Given the description of an element on the screen output the (x, y) to click on. 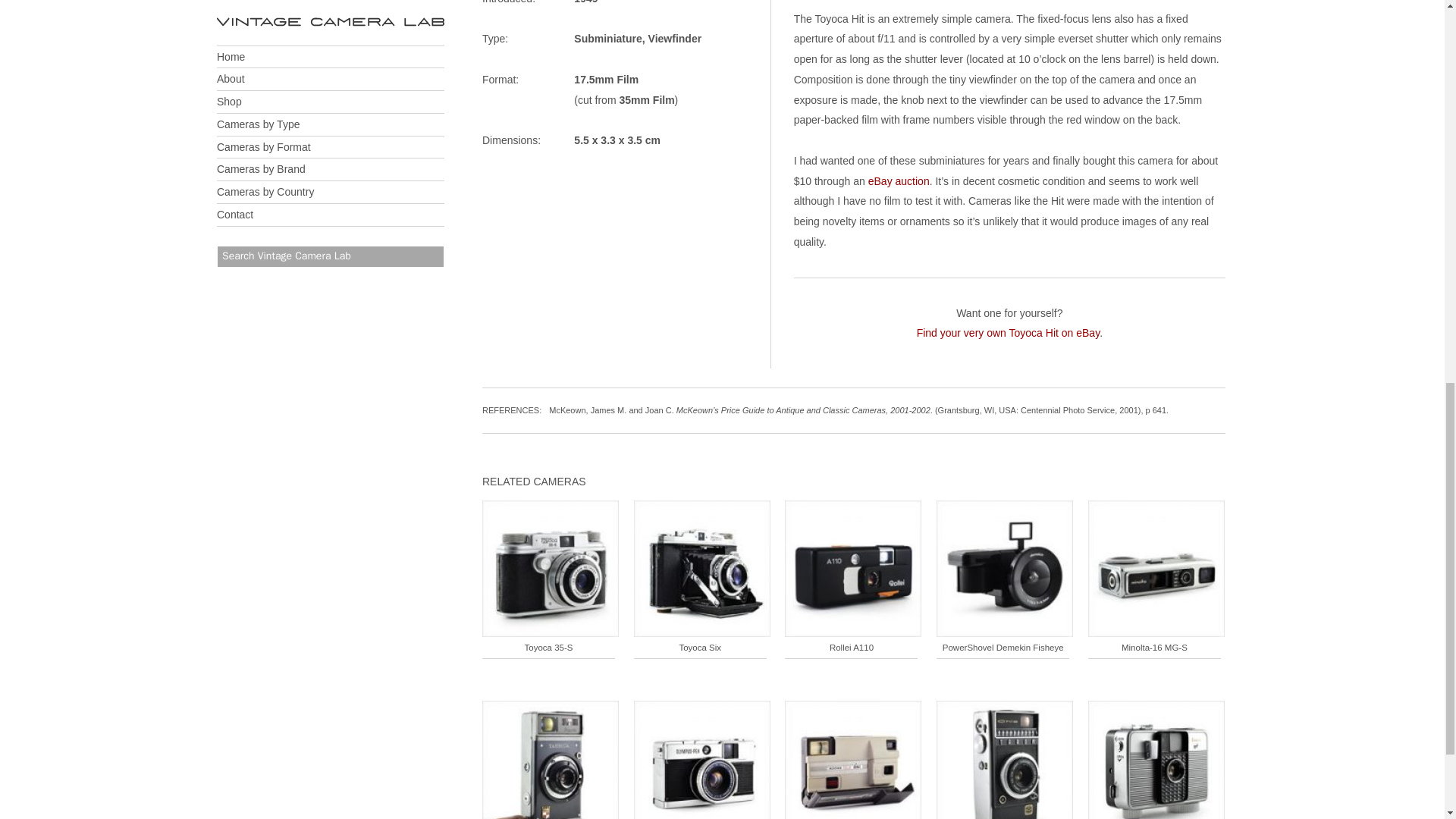
Toyoca Six (701, 575)
Toyoca 35-S (549, 575)
Read more about subminiature cameras on Vintage Camera Lab (607, 38)
Buy a Toyoca Hit camera on eBay (1008, 332)
Buy a Toyoca Hit camera on eBay (898, 180)
Read more about viewfinder cameras on Vintage Camera Lab (674, 38)
Rollei A110 (852, 575)
